Given the description of an element on the screen output the (x, y) to click on. 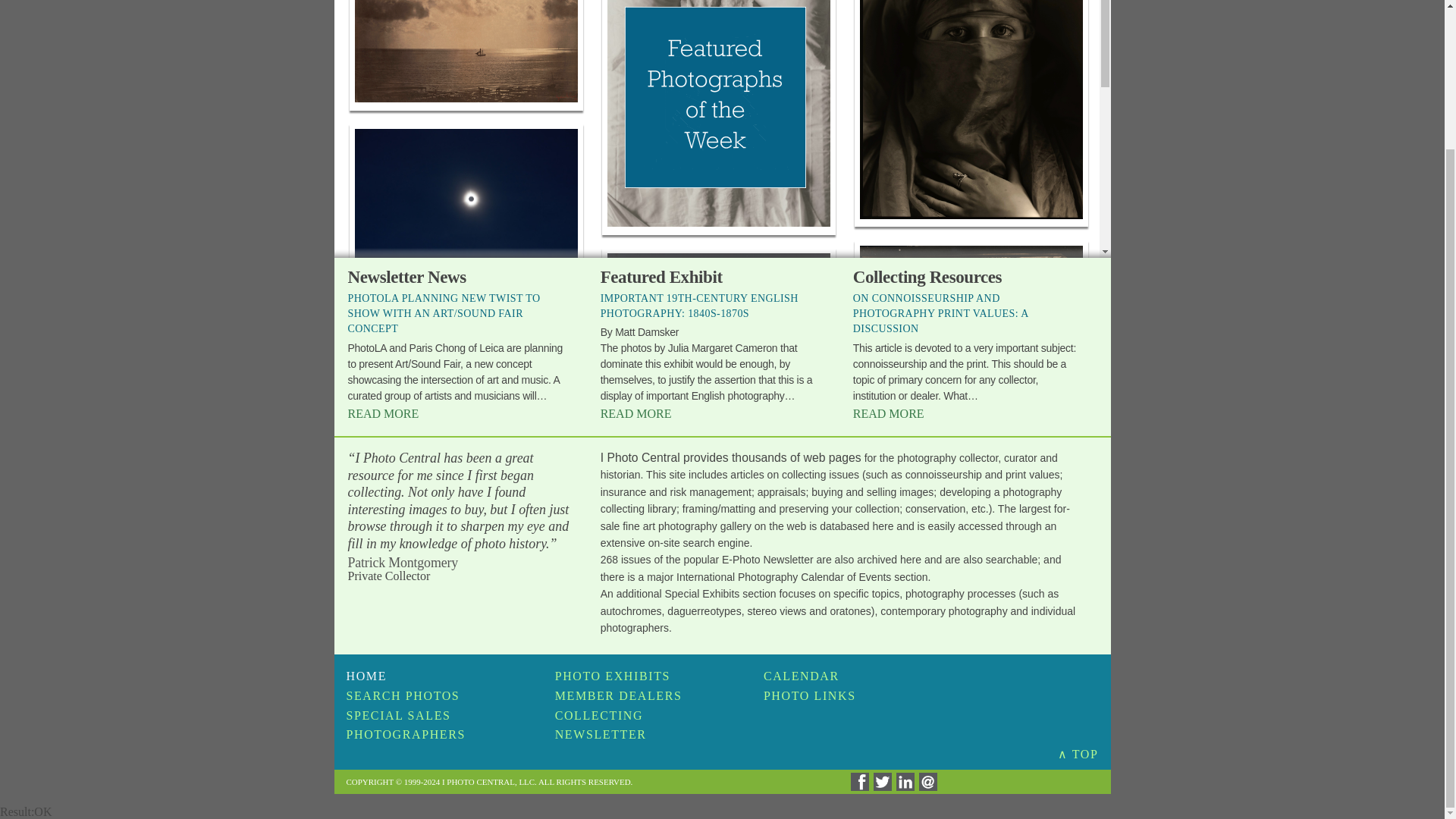
Special Sales (397, 715)
READ MORE (635, 413)
Featured Images of the Week (366, 675)
READ MORE (888, 413)
Search Photos Available (403, 695)
CALENDAR (801, 675)
Jerry Spagnoli - Eclipse 2024 (466, 352)
SPECIAL SALES (397, 715)
PHOTO LINKS (809, 695)
MEMBER DEALERS (618, 695)
Man Ray - Rayograph (719, 402)
NEWSLETTER (600, 734)
HOME (366, 675)
COLLECTING (598, 715)
Thomas John Shillea - Portrait of Djuna (971, 109)
